Given the description of an element on the screen output the (x, y) to click on. 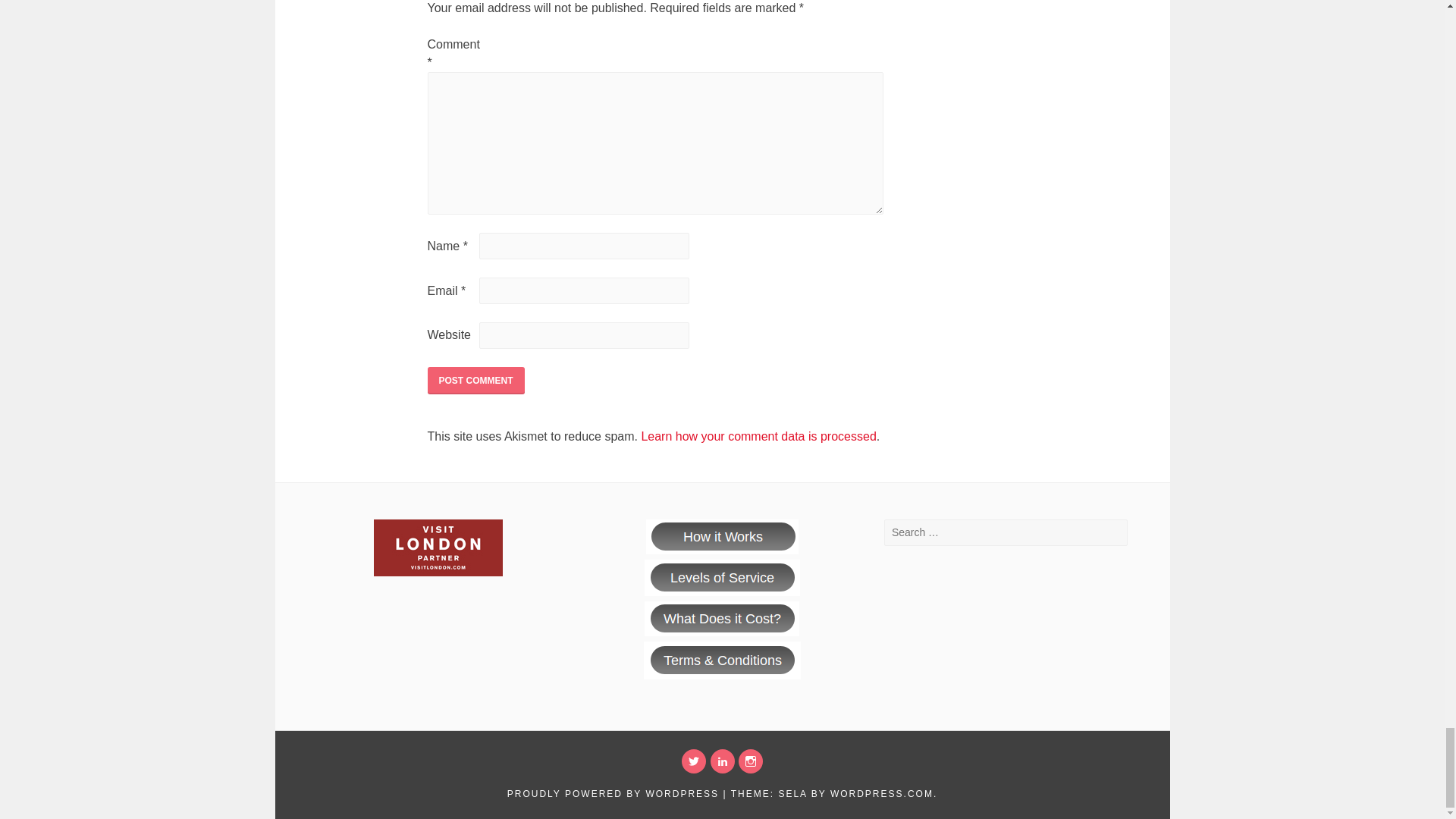
Post Comment (476, 379)
Post Comment (476, 379)
Learn how your comment data is processed (758, 436)
A Semantic Personal Publishing Platform (612, 793)
